Given the description of an element on the screen output the (x, y) to click on. 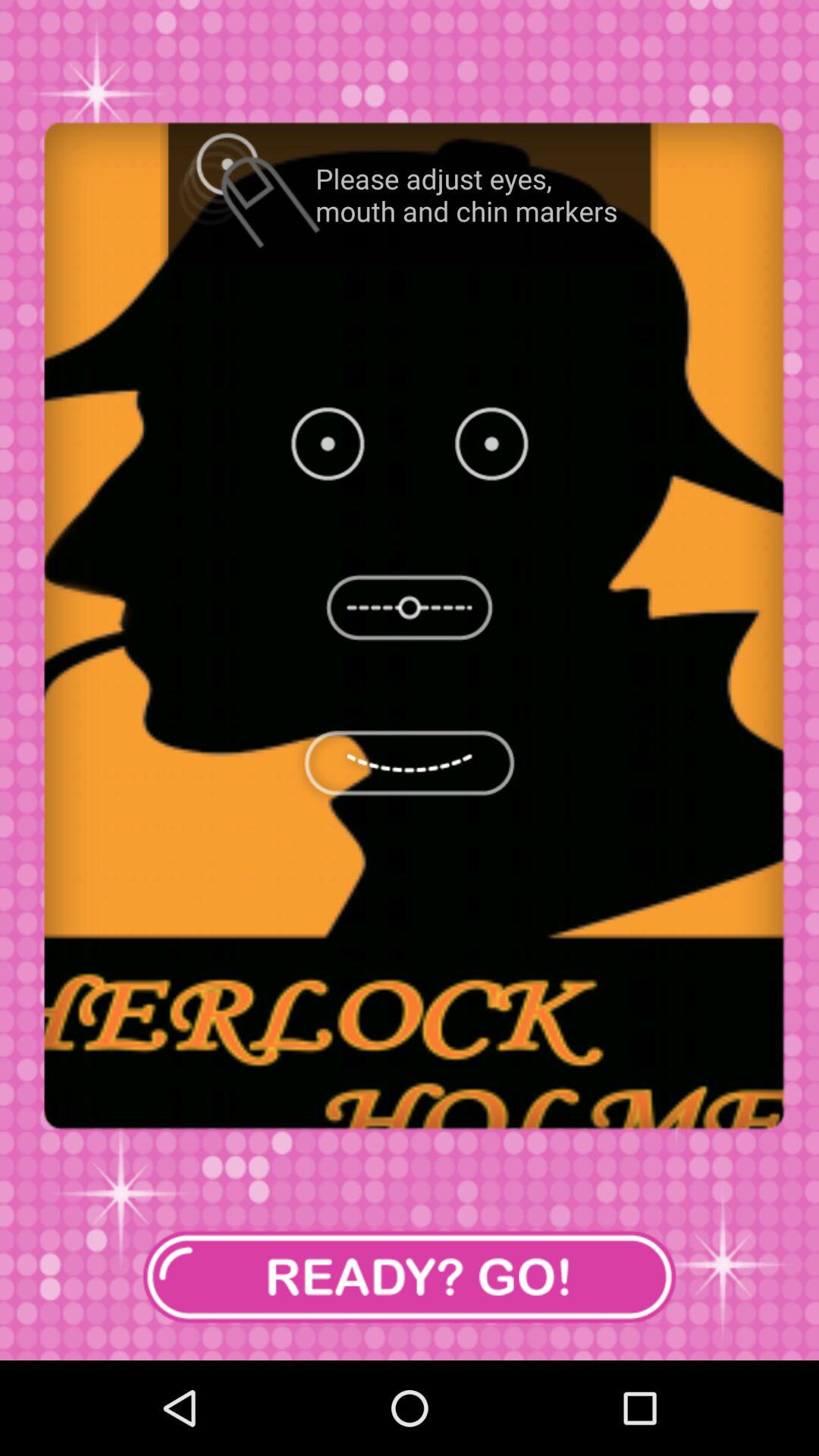
switch autoplay option (409, 1276)
